Given the description of an element on the screen output the (x, y) to click on. 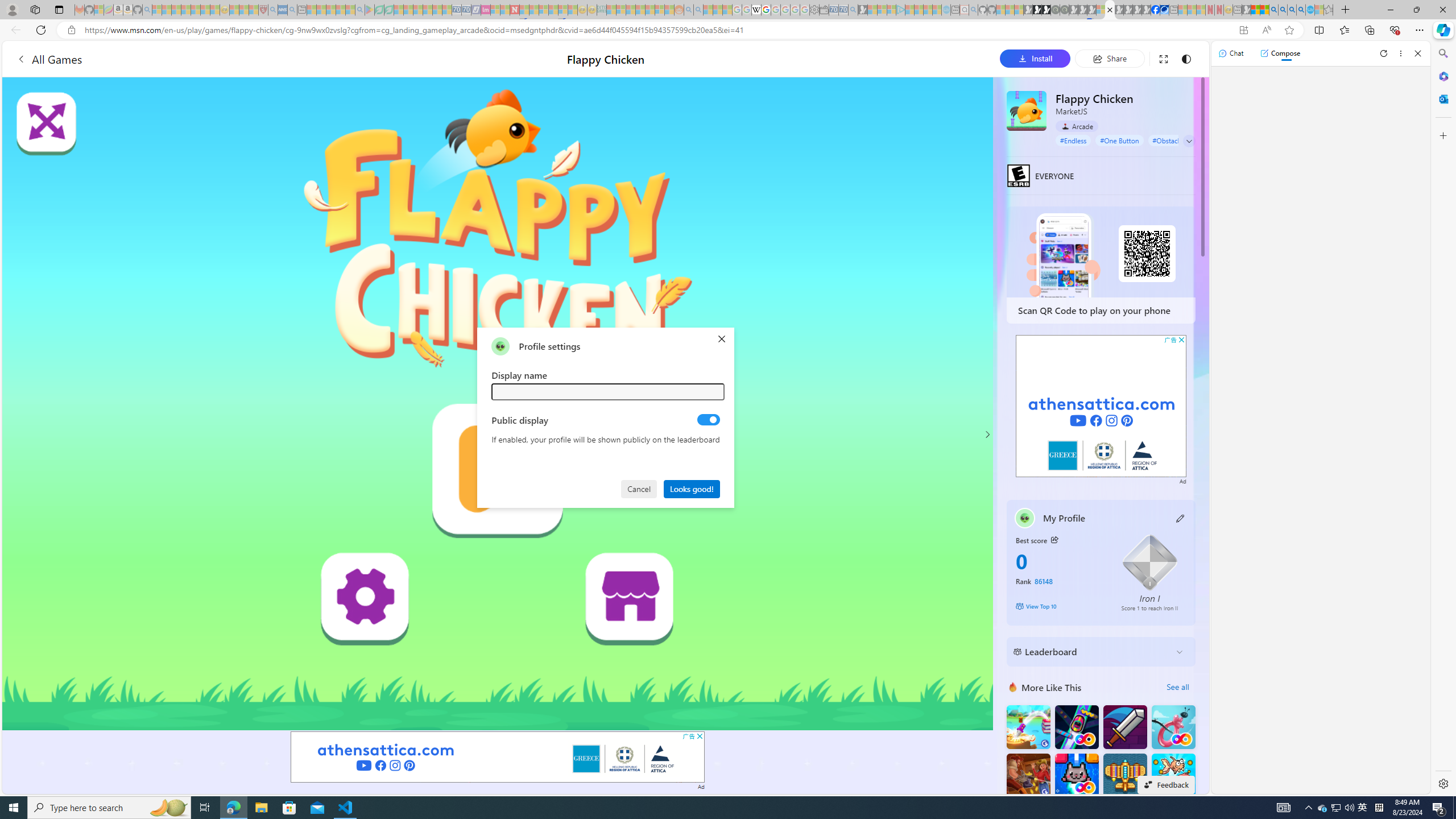
View Top 10 (1060, 605)
EVERYONE (1018, 175)
More Like This (1012, 686)
AirNow.gov (1163, 9)
""'s avatar (500, 345)
